Given the description of an element on the screen output the (x, y) to click on. 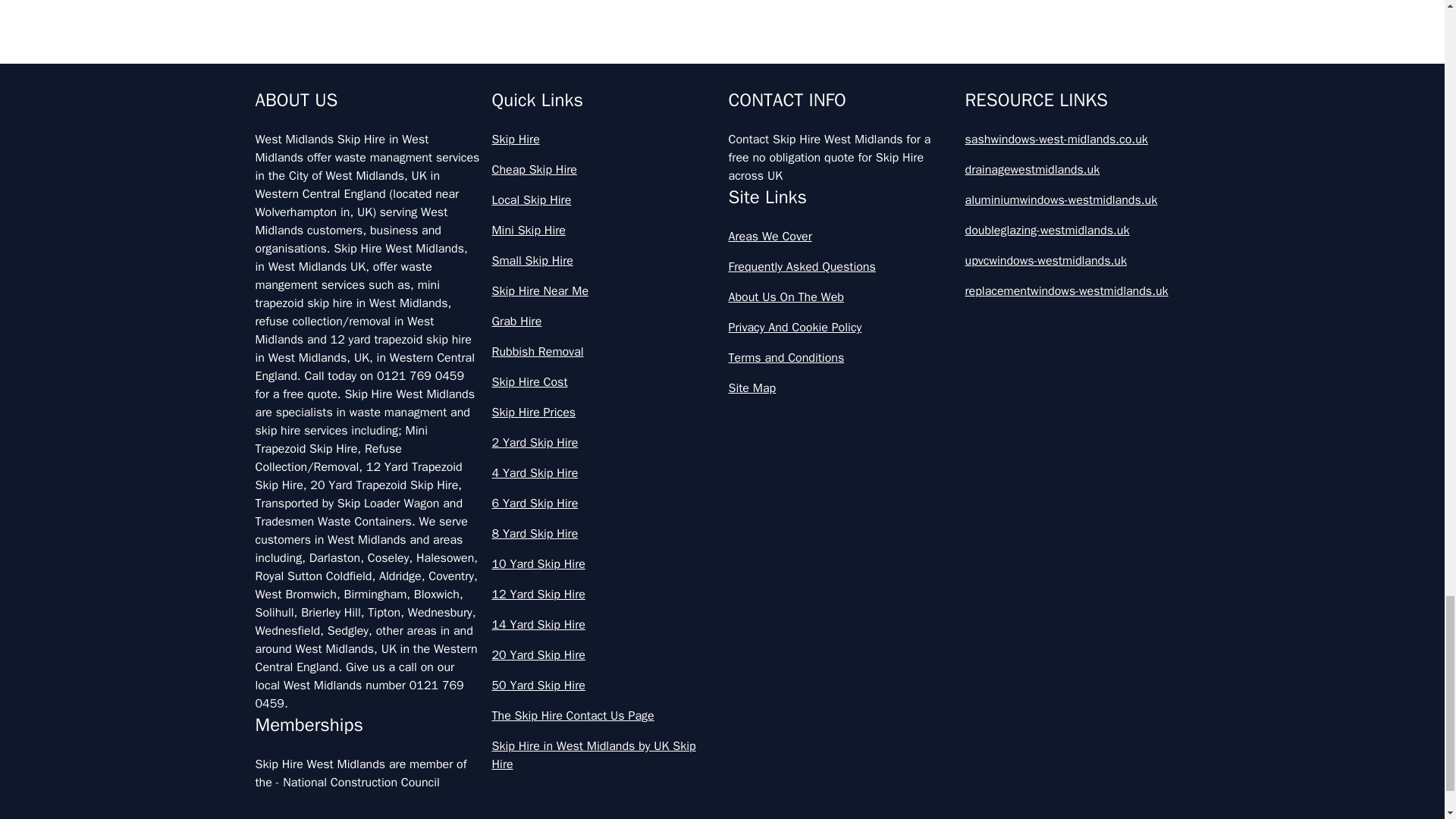
Local Skip Hire (604, 199)
replacementwindows-westmidlands.uk (1076, 290)
Small Skip Hire (604, 260)
Cheap Skip Hire (604, 169)
Grab Hire (604, 321)
upvcwindows-westmidlands.uk (1076, 260)
Skip Hire Near Me (604, 290)
Mini Skip Hire (604, 230)
aluminiumwindows-westmidlands.uk (1076, 199)
drainagewestmidlands.uk (1076, 169)
